Given the description of an element on the screen output the (x, y) to click on. 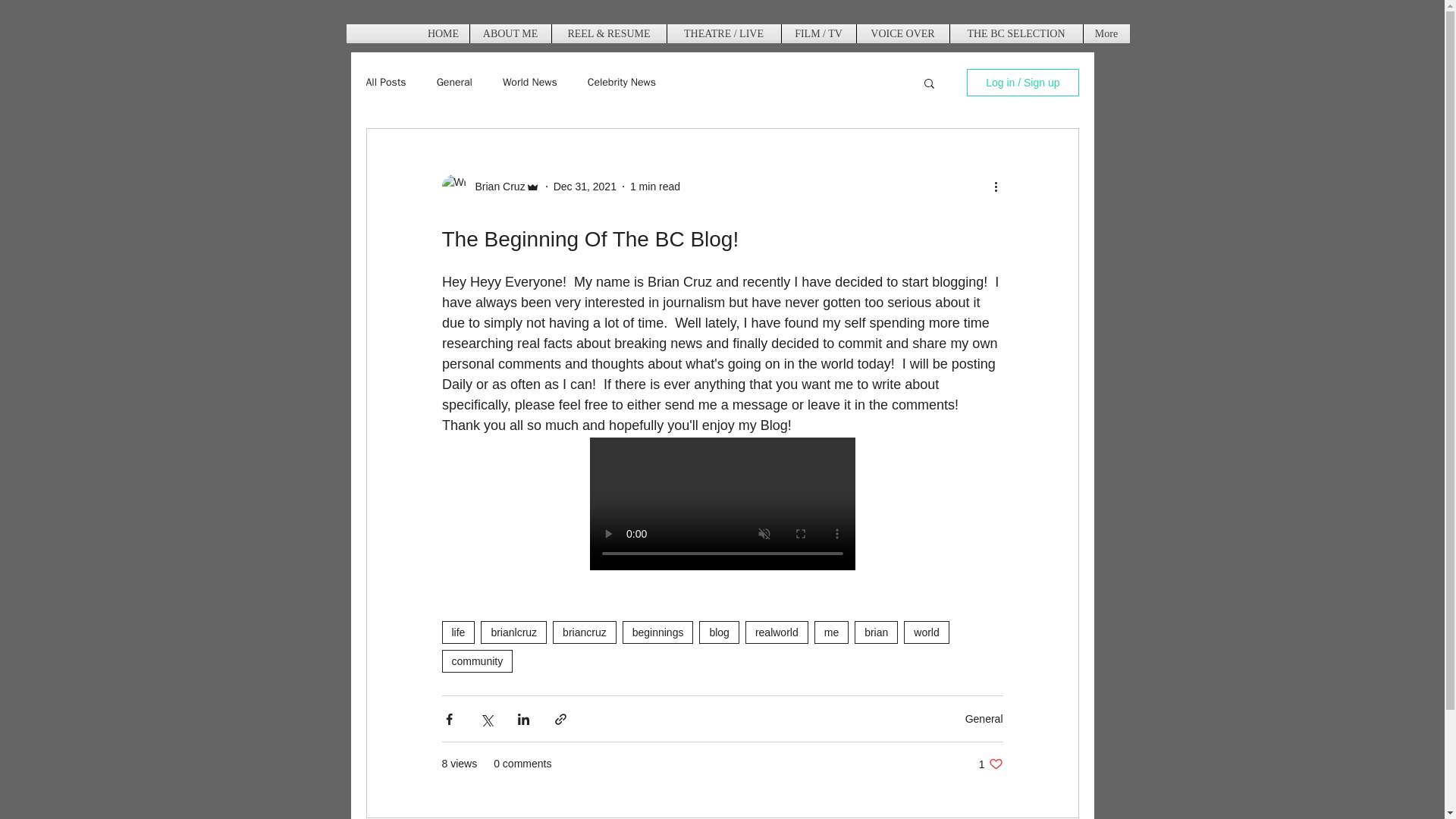
brianlcruz (513, 631)
blog (718, 631)
1 min read (654, 186)
Dec 31, 2021 (584, 186)
Brian Cruz (494, 186)
briancruz (584, 631)
life (457, 631)
World News (529, 82)
THE BC SELECTION (1015, 33)
world (926, 631)
